Given the description of an element on the screen output the (x, y) to click on. 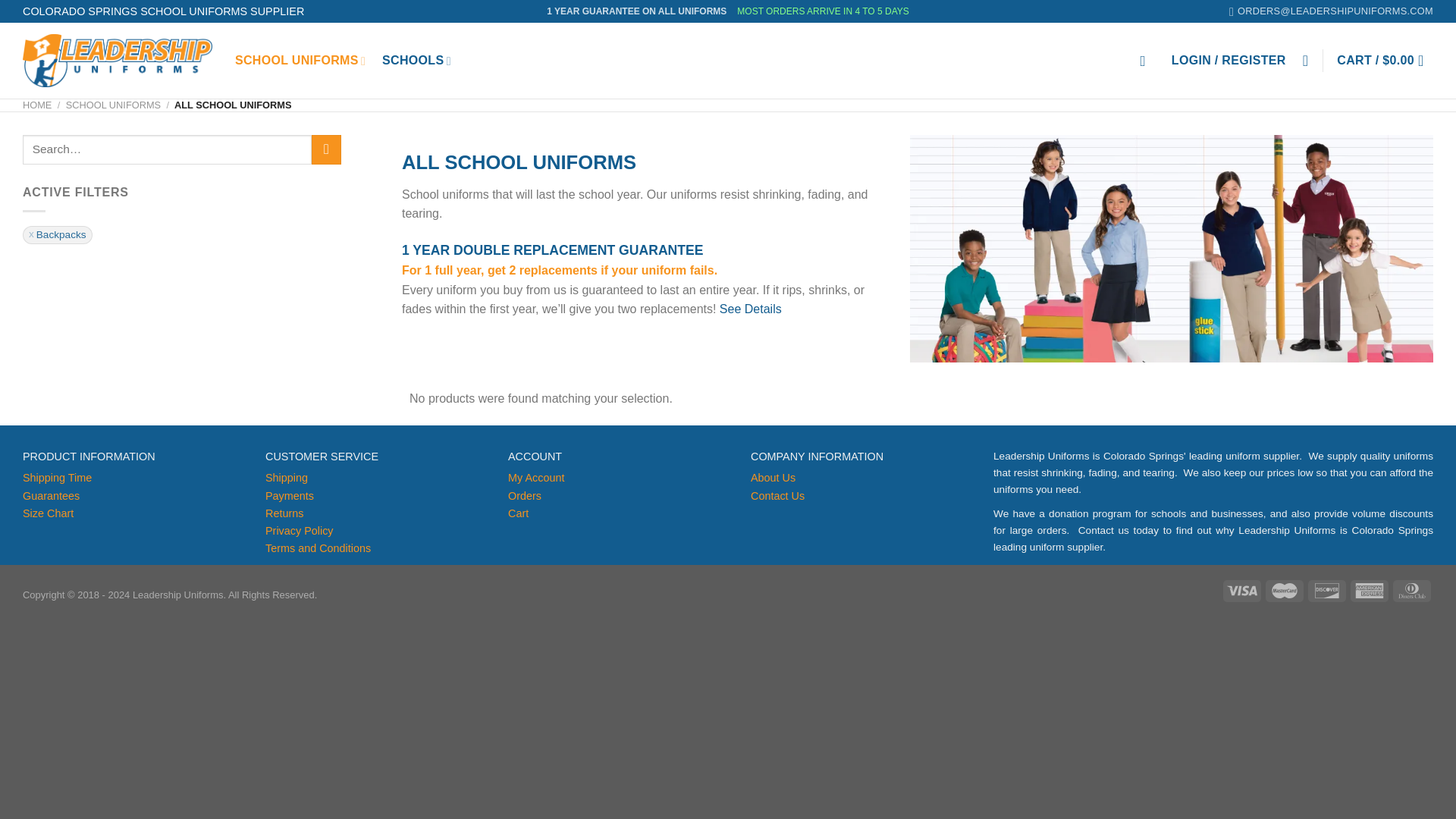
SCHOOLS (416, 60)
SCHOOL UNIFORMS (299, 60)
1 YEAR GUARANTEE ON ALL UNIFORMS (636, 11)
Cart (1384, 60)
Login (1228, 60)
